Given the description of an element on the screen output the (x, y) to click on. 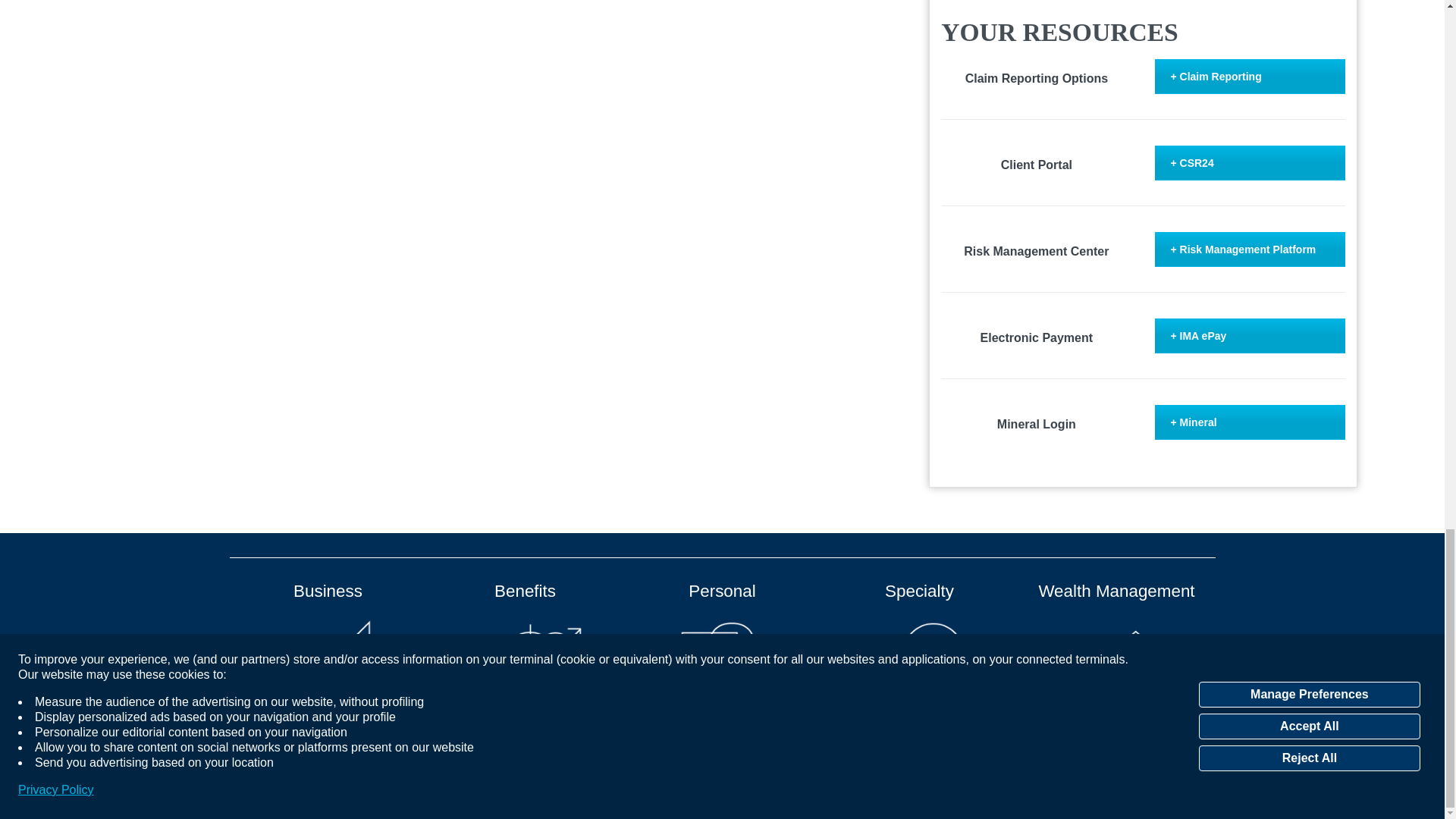
Specialty (919, 648)
Business (327, 648)
Personal (722, 648)
Wealth Management (1115, 648)
Benefits (524, 648)
